Given the description of an element on the screen output the (x, y) to click on. 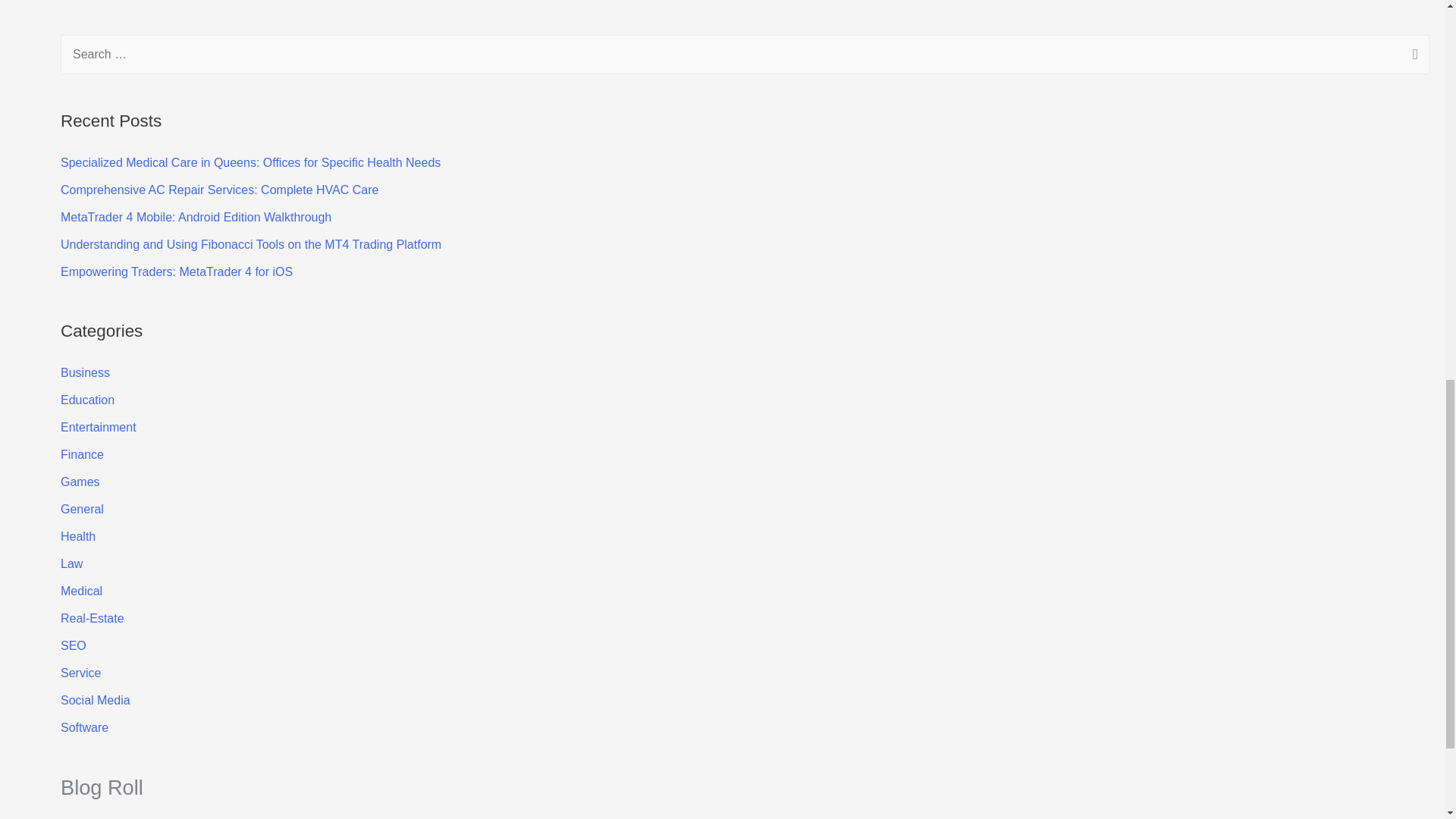
Social Media (96, 699)
Empowering Traders: MetaTrader 4 for iOS (176, 271)
SEO (73, 645)
Business (85, 372)
Comprehensive AC Repair Services: Complete HVAC Care (219, 189)
General (82, 508)
Software (84, 727)
MetaTrader 4 Mobile: Android Edition Walkthrough (196, 216)
Law (71, 563)
Service (80, 672)
Education (88, 399)
Entertainment (98, 427)
Real-Estate (92, 617)
